Given the description of an element on the screen output the (x, y) to click on. 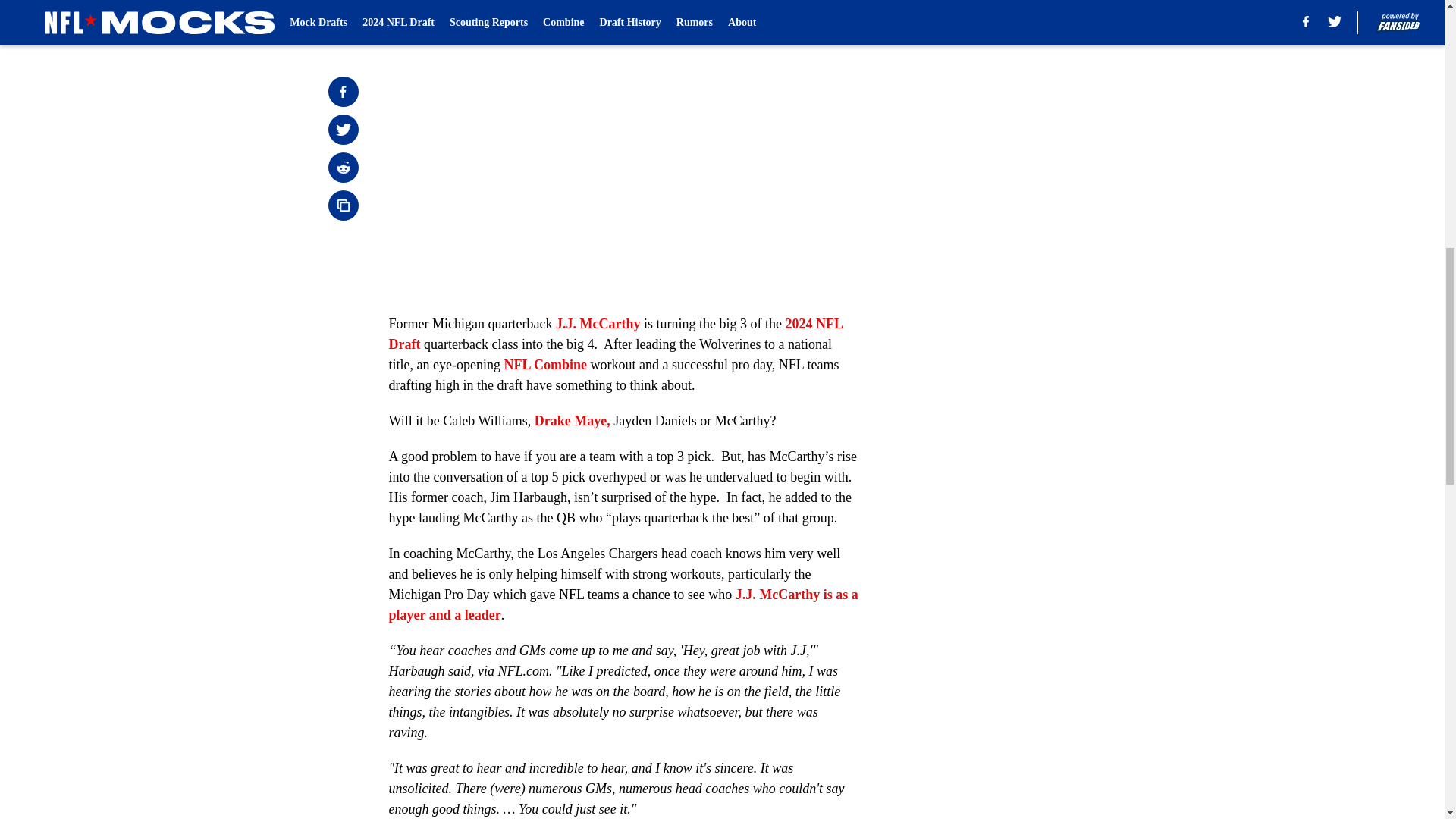
Drake Maye, (572, 420)
2024 NFL Draft (614, 334)
J.J. McCarthy is as a player and a leader (622, 604)
J.J. McCarthy (597, 323)
NFL Combine (544, 364)
